Given the description of an element on the screen output the (x, y) to click on. 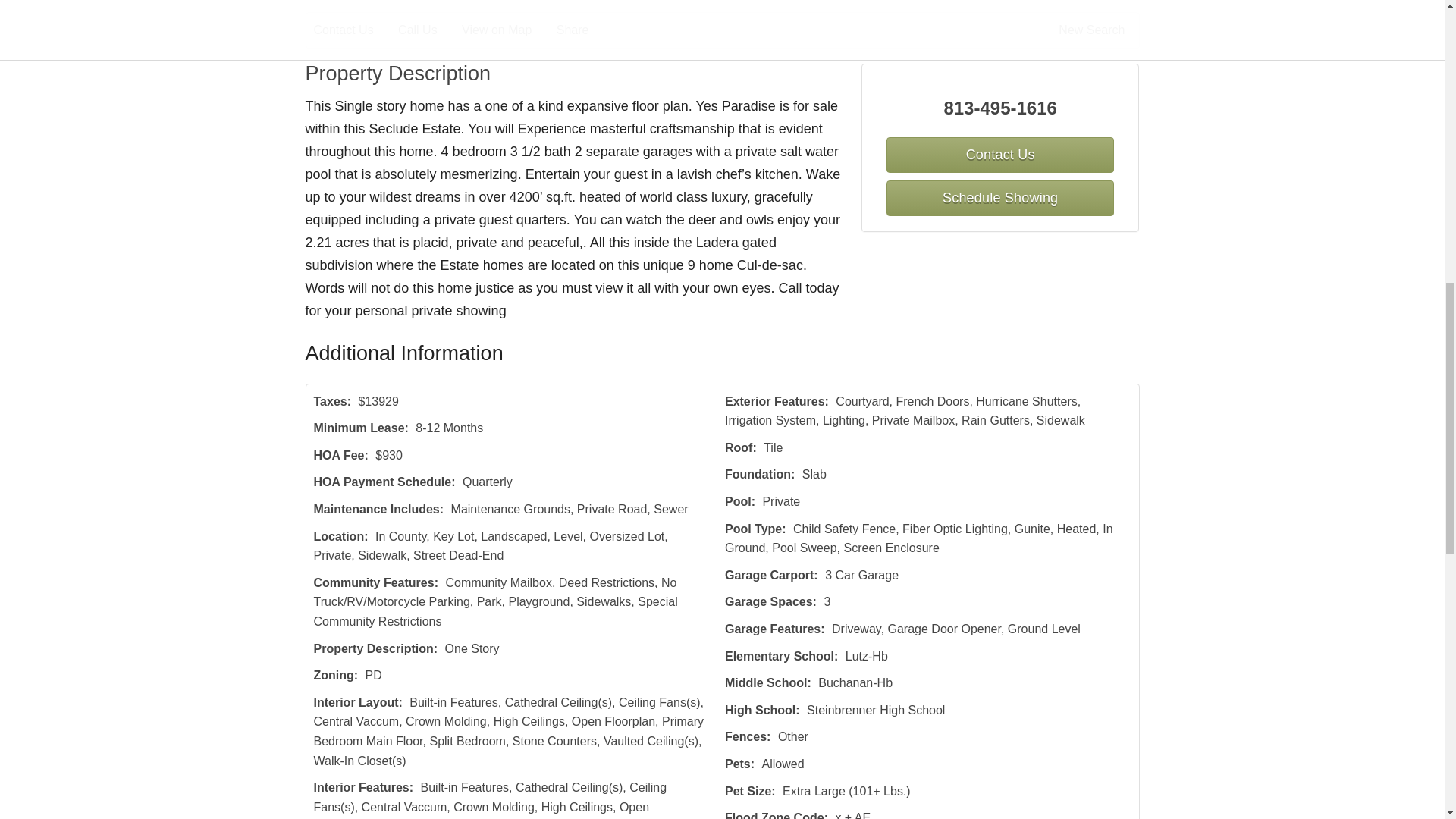
Share (583, 29)
View on Map (507, 29)
Call Us (427, 29)
Contact Us (354, 29)
New Search (1094, 29)
